Given the description of an element on the screen output the (x, y) to click on. 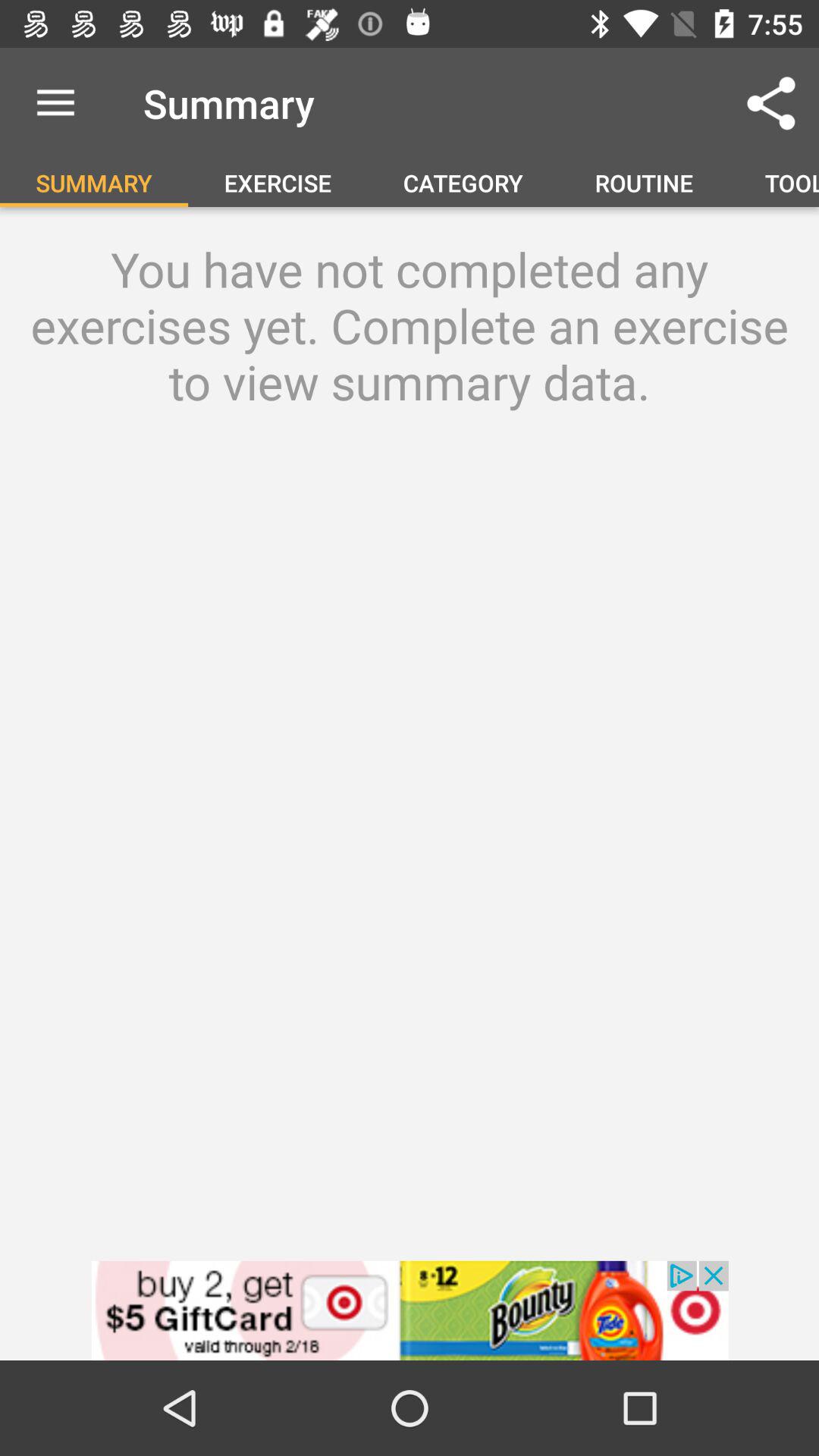
advertisement (409, 1310)
